Given the description of an element on the screen output the (x, y) to click on. 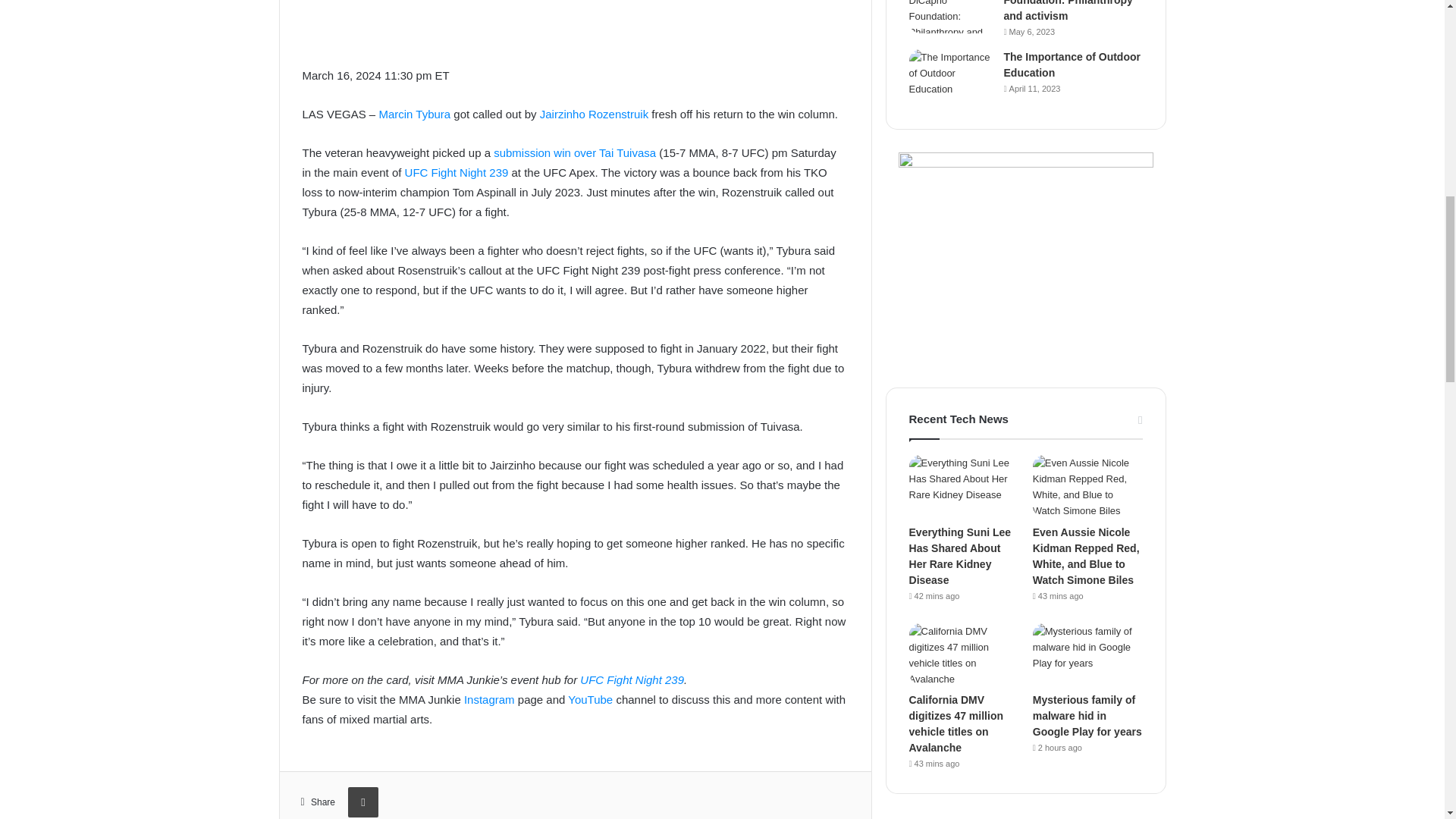
Instagram (489, 698)
UFC Fight Night 239 (456, 172)
Print (362, 802)
Jairzinho Rozenstruik (593, 113)
YouTube (589, 698)
UFC Fight Night 239 (631, 679)
Marcin Tybura (413, 113)
submission win over Tai Tuivasa (574, 152)
